Given the description of an element on the screen output the (x, y) to click on. 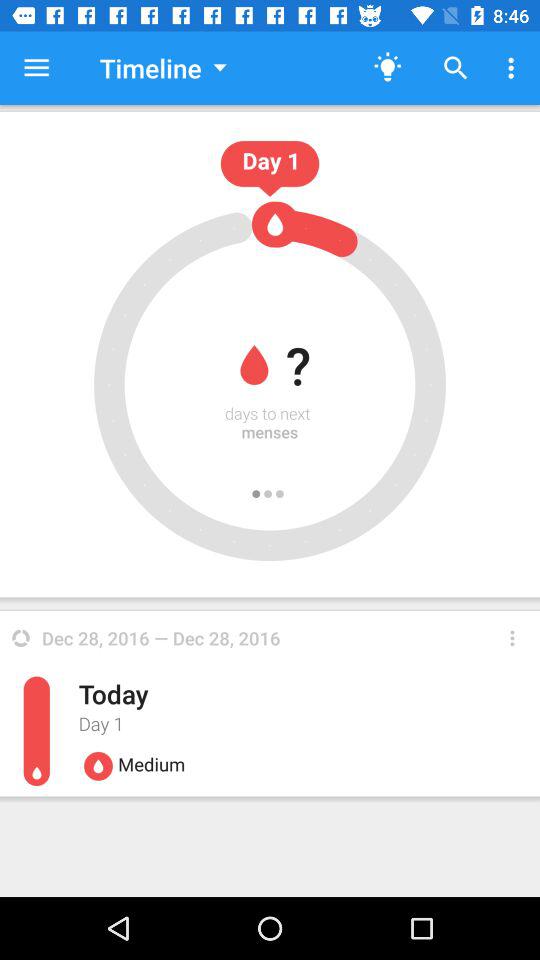
more details about today in your cycle (512, 638)
